Given the description of an element on the screen output the (x, y) to click on. 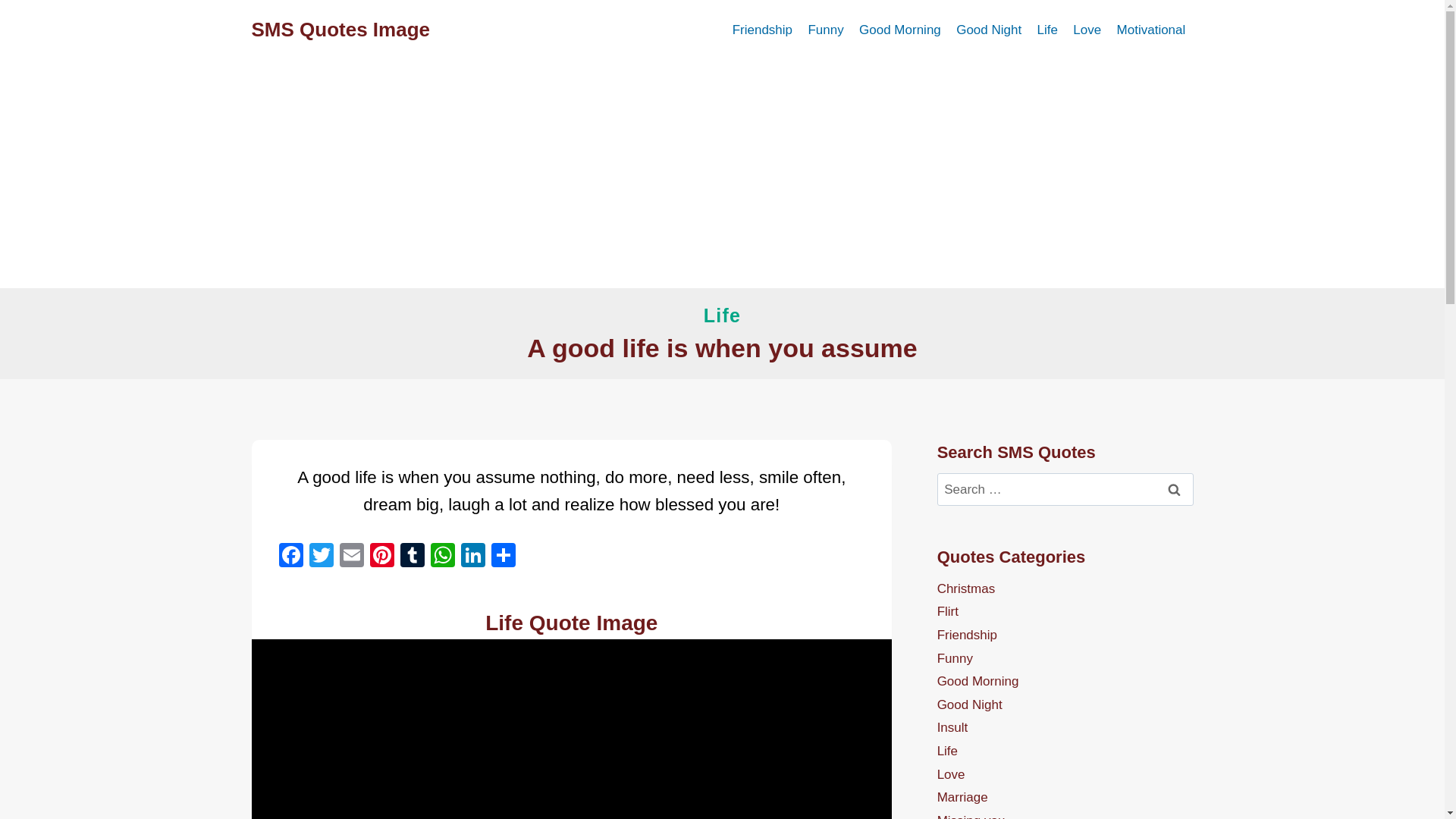
Funny (825, 30)
Email (351, 556)
Facebook (290, 556)
WhatsApp (443, 556)
Search (1174, 489)
Life (722, 314)
Good Morning (900, 30)
WhatsApp (443, 556)
Love (1086, 30)
Tumblr (412, 556)
Good Night (989, 30)
SMS Quotes Image (340, 29)
LinkedIn (472, 556)
Facebook (290, 556)
Pinterest (381, 556)
